Given the description of an element on the screen output the (x, y) to click on. 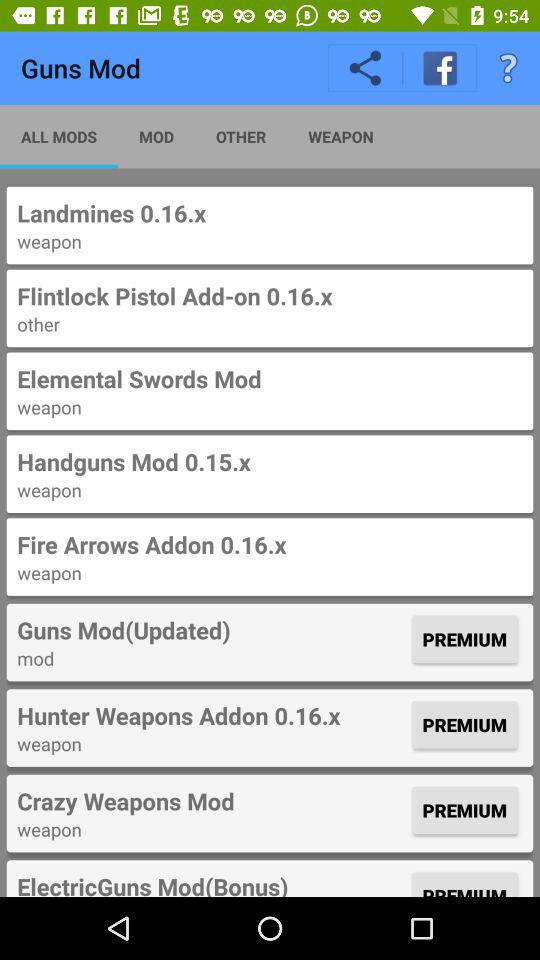
open the icon below the weapon (211, 801)
